Given the description of an element on the screen output the (x, y) to click on. 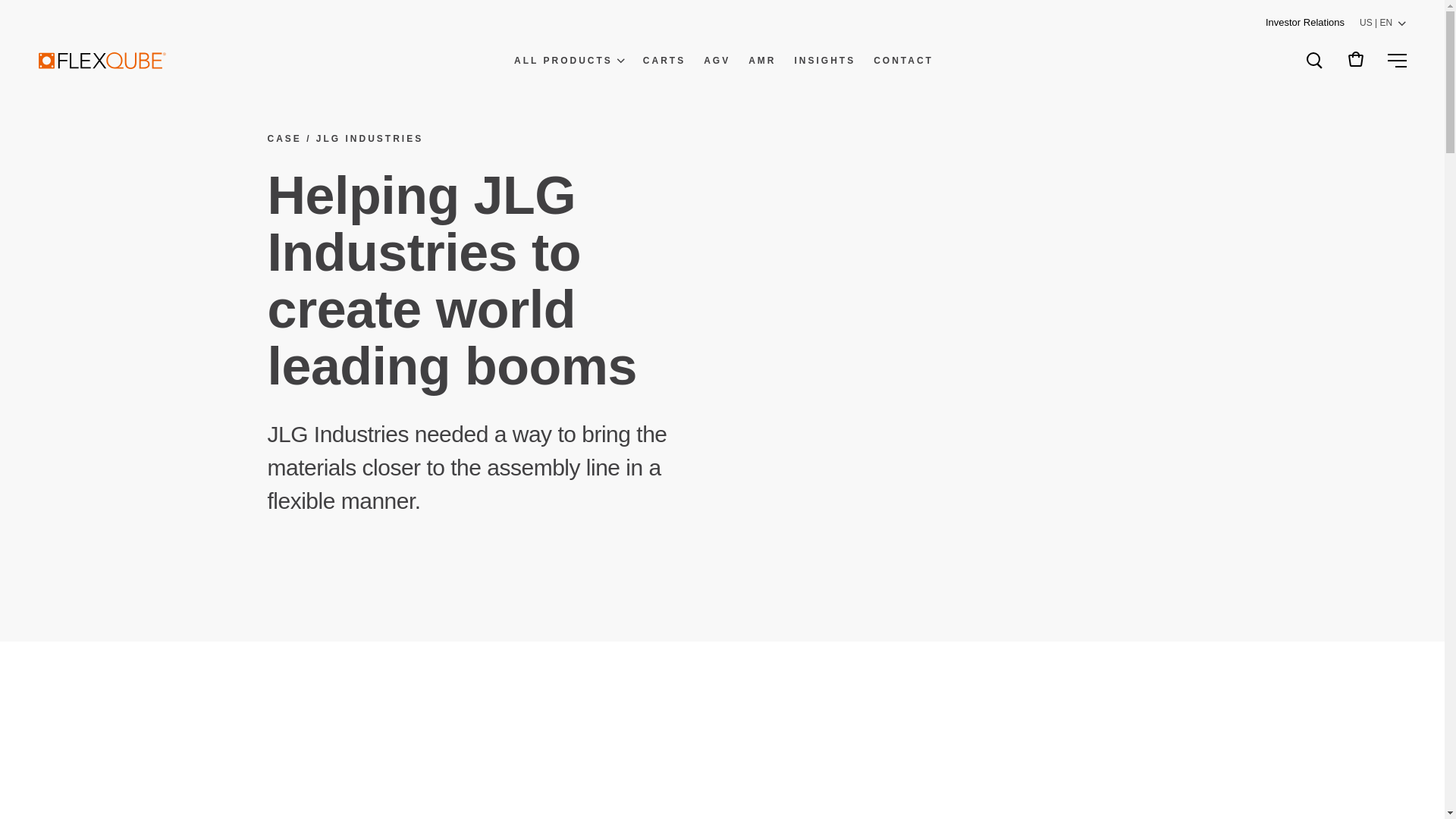
INSIGHTS (825, 60)
ALL PRODUCTS (568, 60)
MENU (1390, 60)
FlexQube (102, 60)
CARTS (664, 60)
AMR (762, 60)
AGV (716, 60)
Investor Relations (1304, 22)
CONTACT (903, 60)
